Given the description of an element on the screen output the (x, y) to click on. 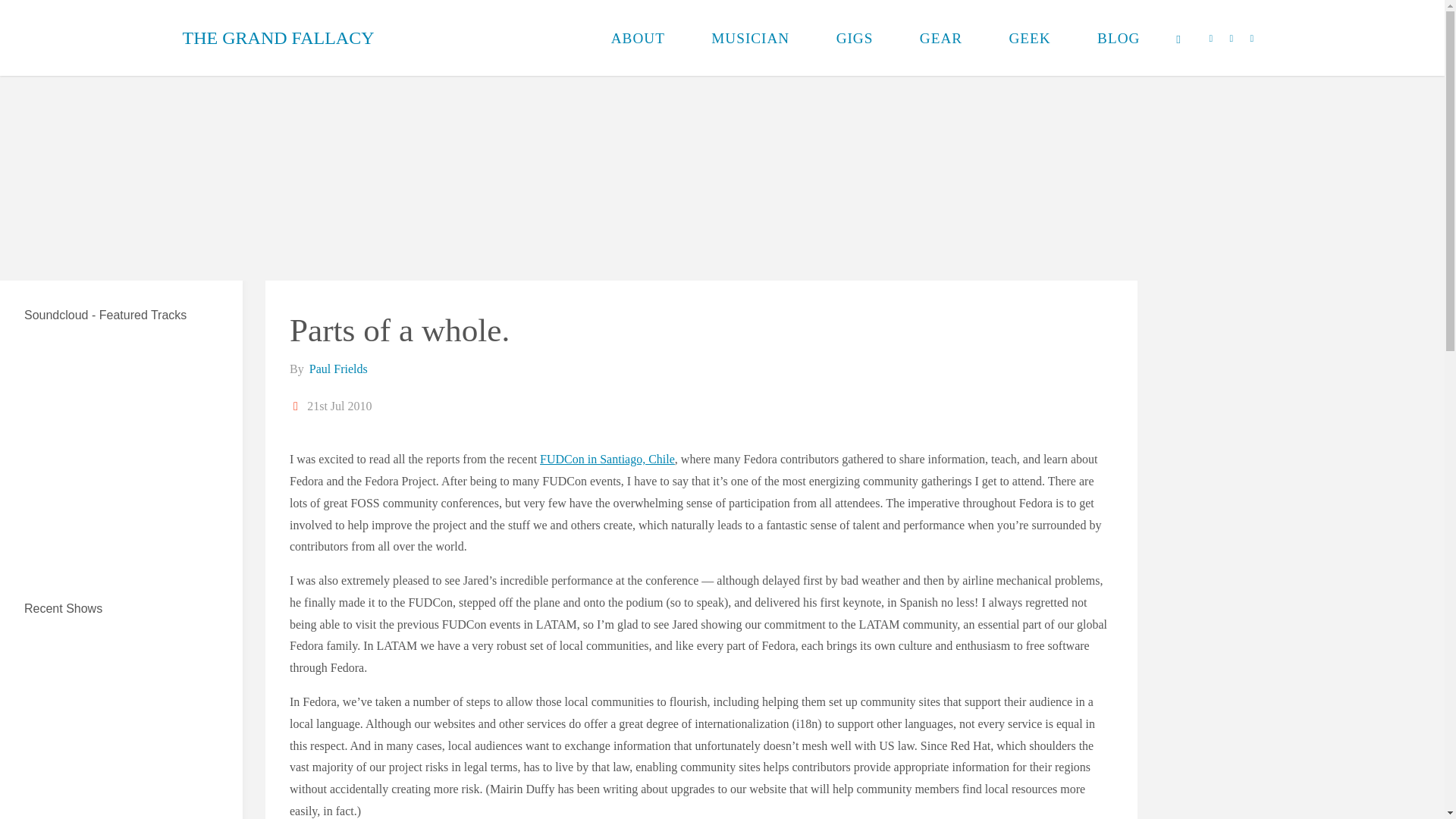
GEEK (1029, 38)
Date (296, 405)
FUDCon in Santiago, Chile (607, 459)
MUSICIAN (750, 38)
Paul Frields (337, 368)
GIGS (854, 38)
BLOG (1118, 38)
GEAR (940, 38)
ABOUT (638, 38)
THE GRAND FALLACY (278, 37)
